Given the description of an element on the screen output the (x, y) to click on. 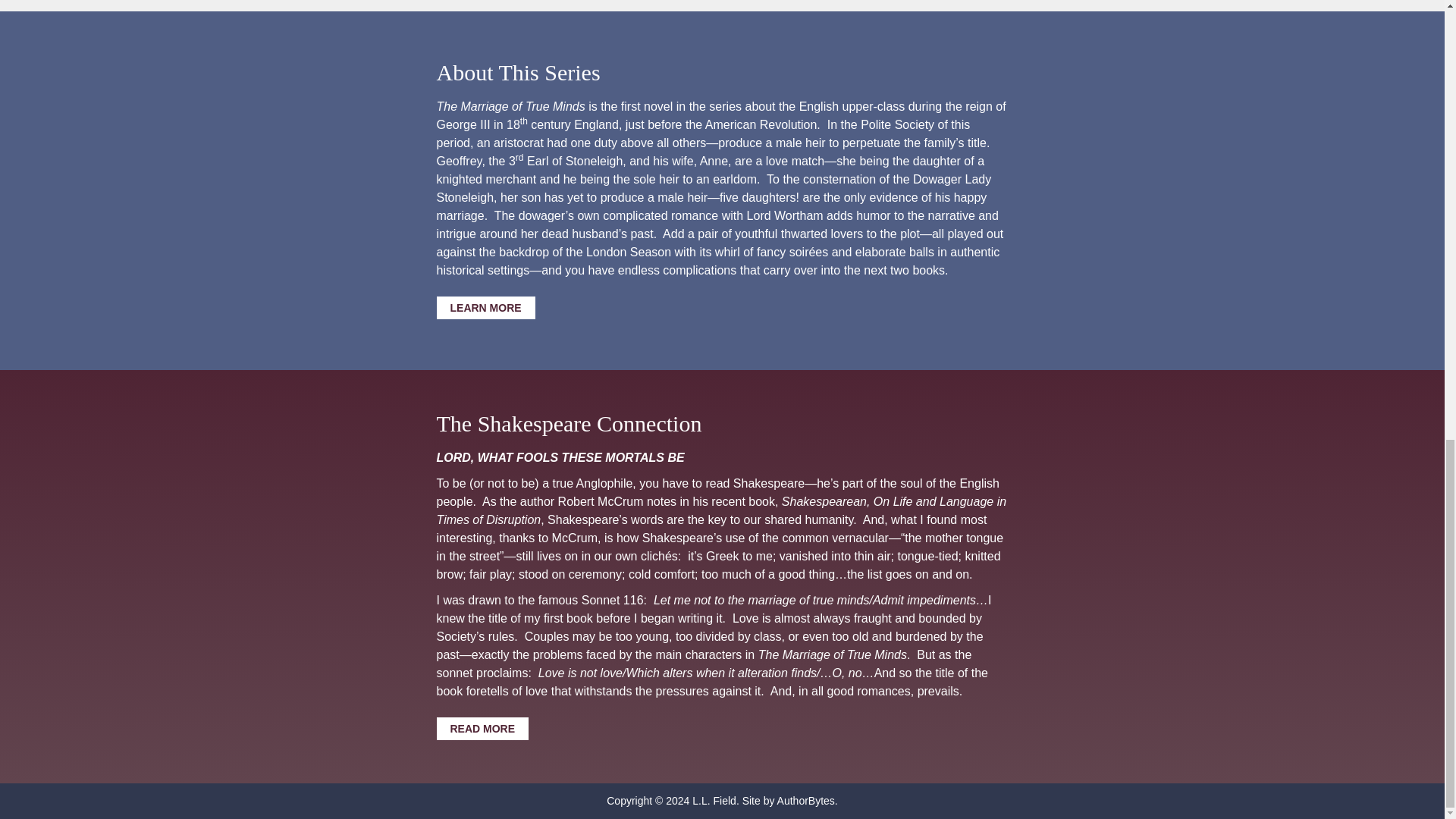
AuthorBytes (805, 800)
LEARN MORE (485, 307)
READ MORE (482, 728)
